Given the description of an element on the screen output the (x, y) to click on. 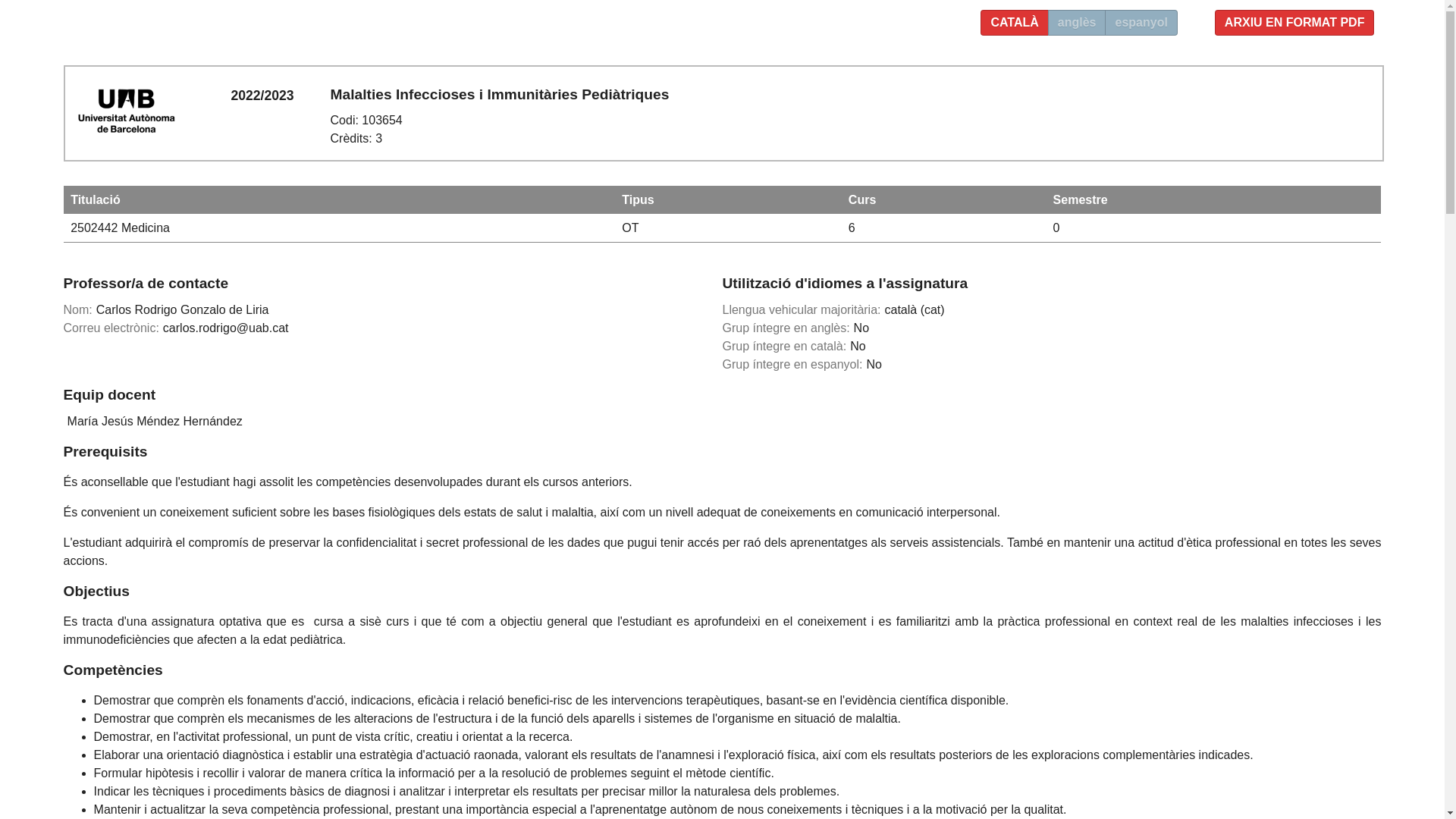
ARXIU EN FORMAT PDF Element type: text (1294, 21)
espanyol Element type: text (1140, 21)
